Given the description of an element on the screen output the (x, y) to click on. 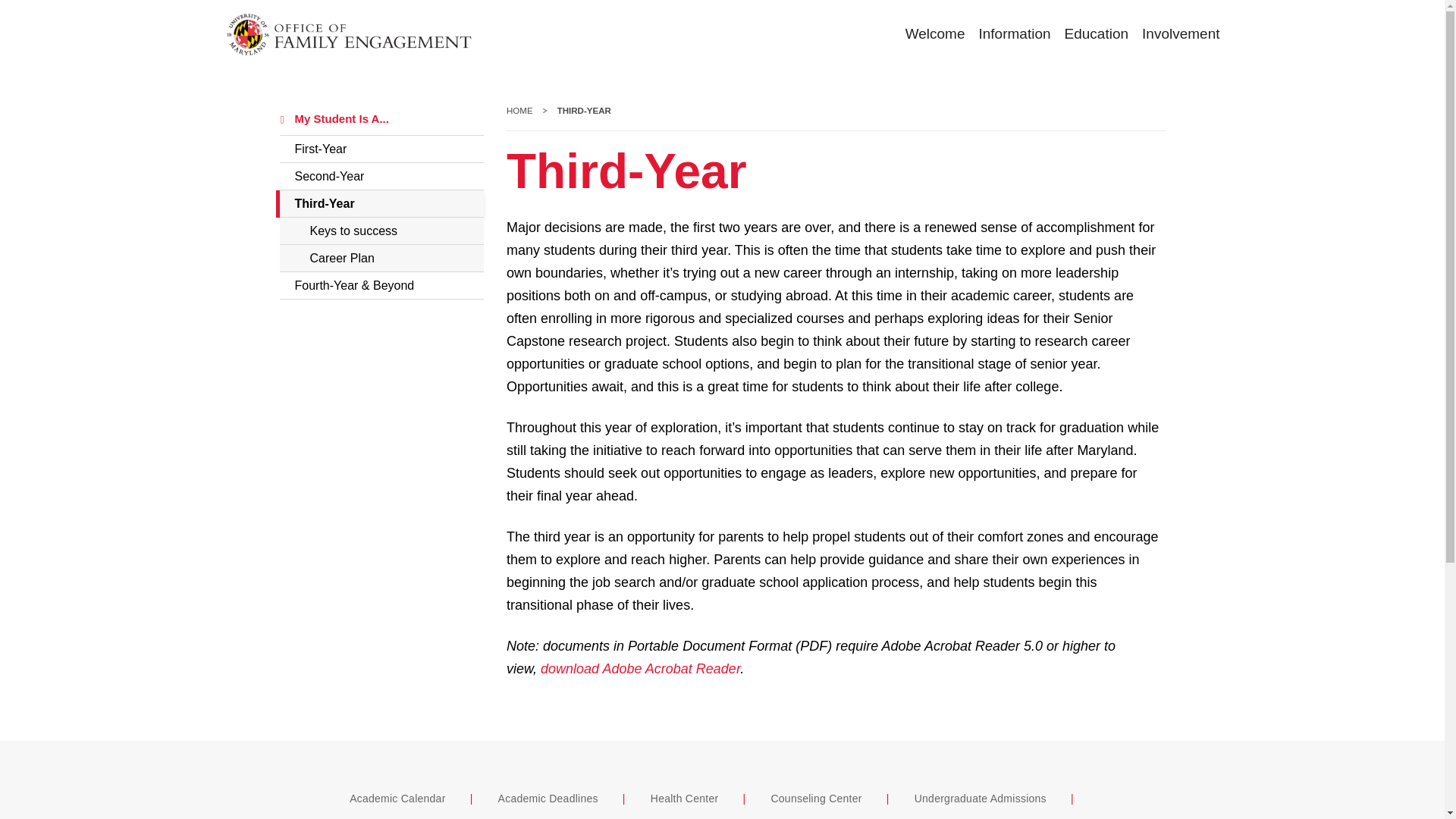
Information (1006, 34)
Keys to success (381, 230)
First-Year (381, 203)
Involvement (381, 148)
HOME (1174, 34)
Welcome (519, 110)
My Student Is A... (928, 34)
Skip to main content (381, 118)
